Given the description of an element on the screen output the (x, y) to click on. 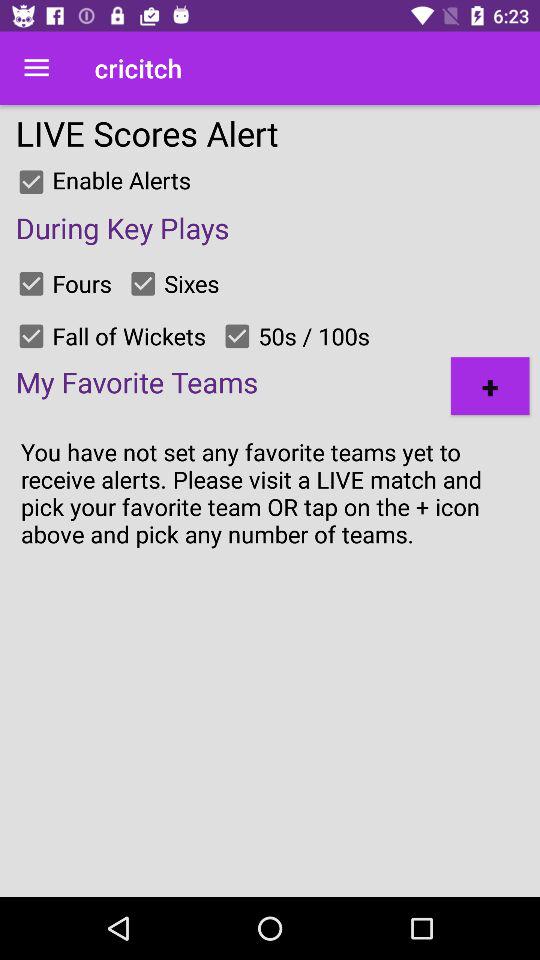
checks box (31, 336)
